Given the description of an element on the screen output the (x, y) to click on. 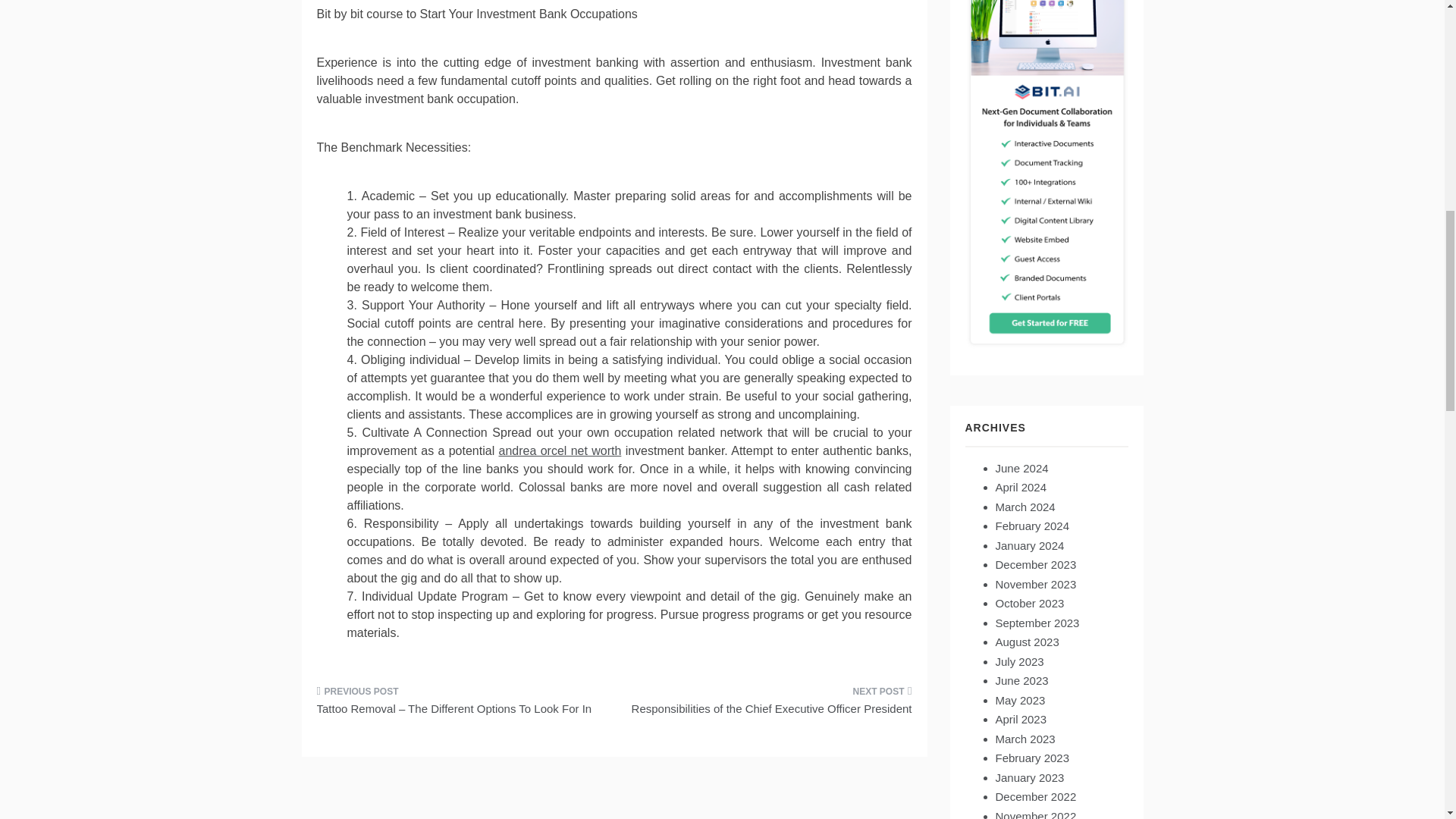
March 2023 (1024, 738)
Responsibilities of the Chief Executive Officer President (769, 704)
January 2023 (1029, 777)
November 2023 (1034, 584)
June 2023 (1021, 680)
January 2024 (1029, 545)
September 2023 (1036, 622)
August 2023 (1026, 641)
December 2023 (1034, 563)
July 2023 (1018, 661)
